Given the description of an element on the screen output the (x, y) to click on. 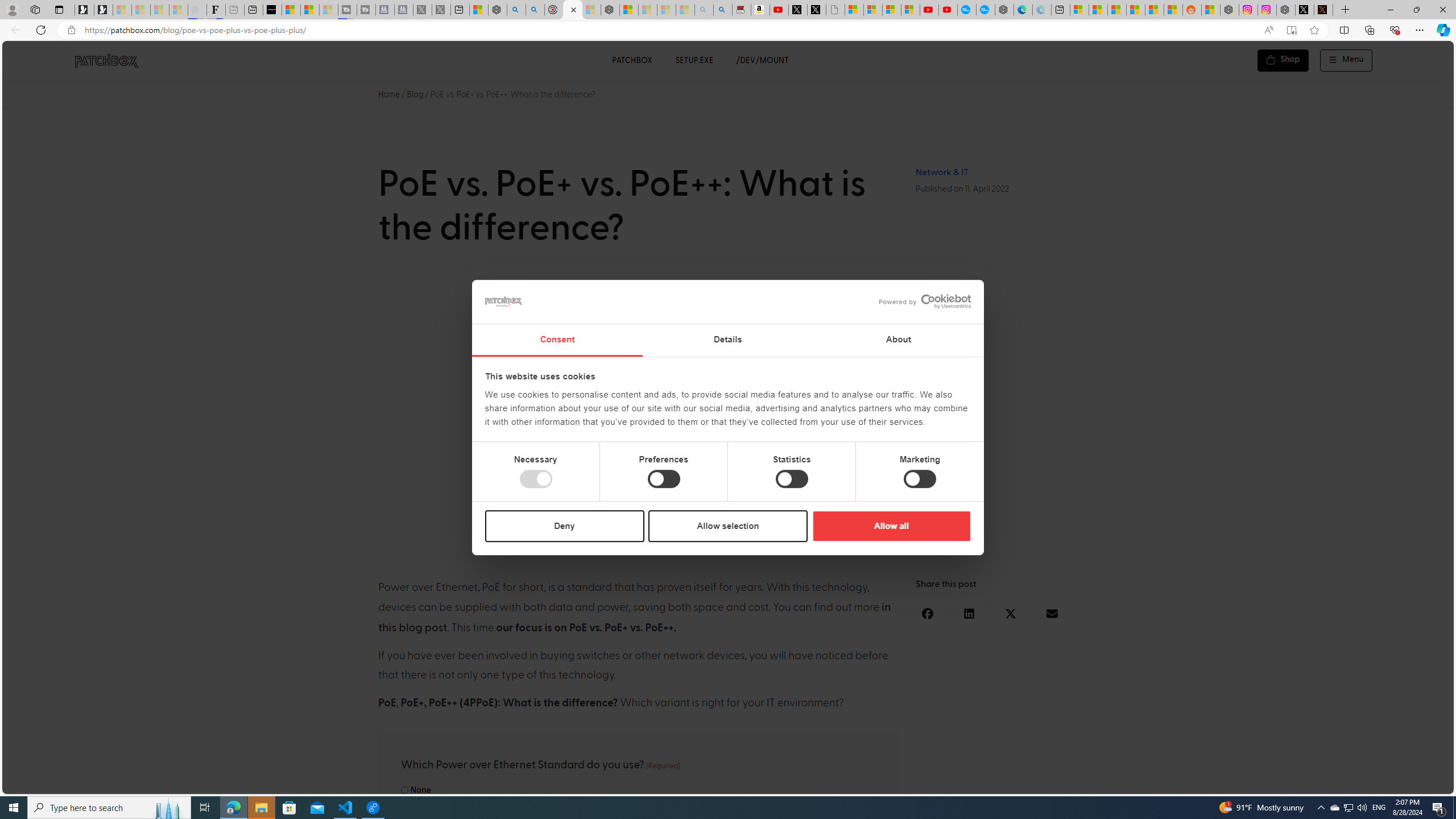
Deny (564, 525)
Language switcher : Polish (1300, 782)
PoE vs. PoE+ vs. PoE++ (727, 413)
